Given the description of an element on the screen output the (x, y) to click on. 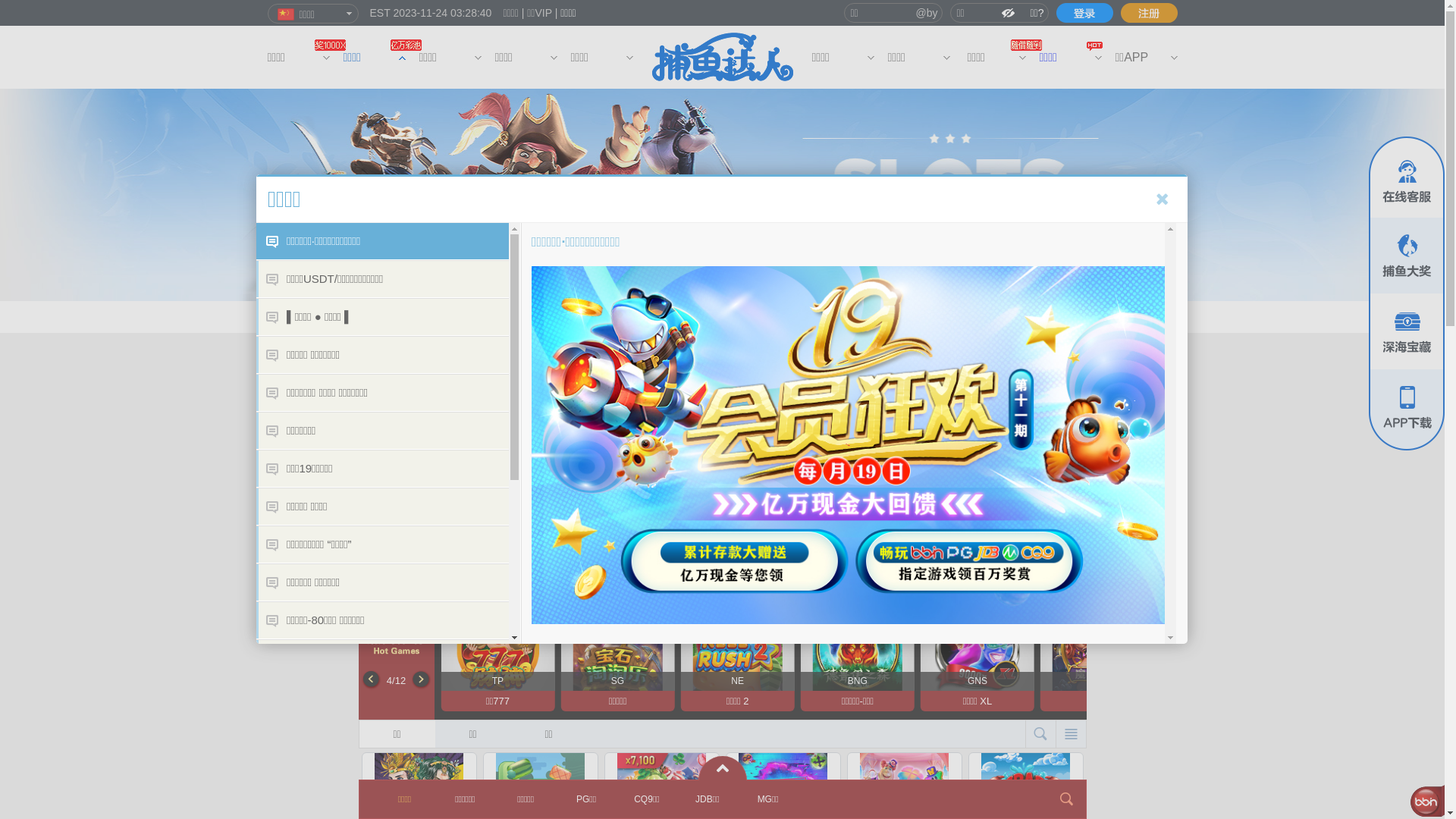
  Element type: text (1083, 12)
